Given the description of an element on the screen output the (x, y) to click on. 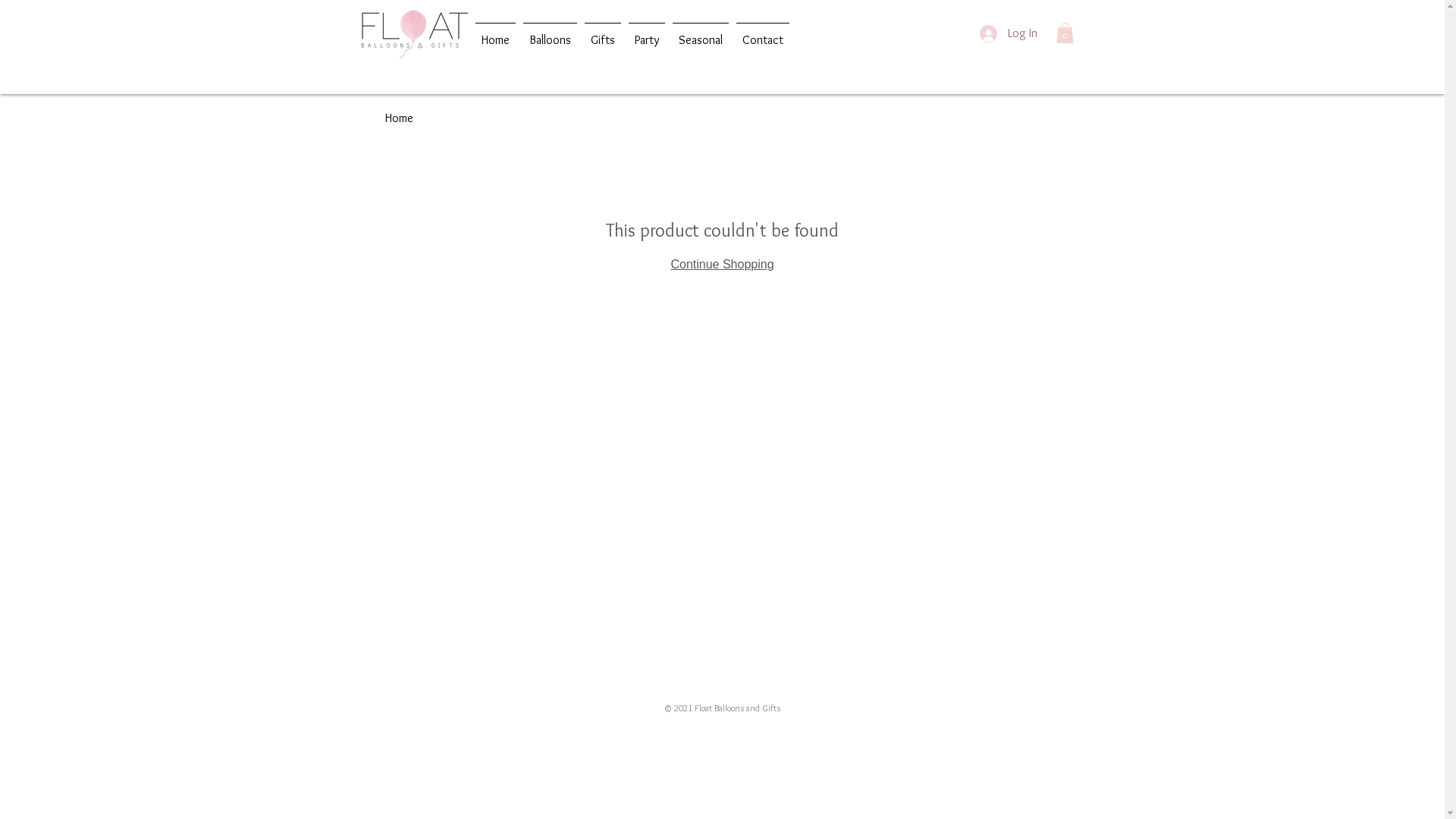
Continue Shopping Element type: text (721, 263)
0 Element type: text (1064, 32)
Contact Element type: text (762, 32)
Home Element type: text (399, 117)
Home Element type: text (495, 32)
Log In Element type: text (1008, 32)
